Given the description of an element on the screen output the (x, y) to click on. 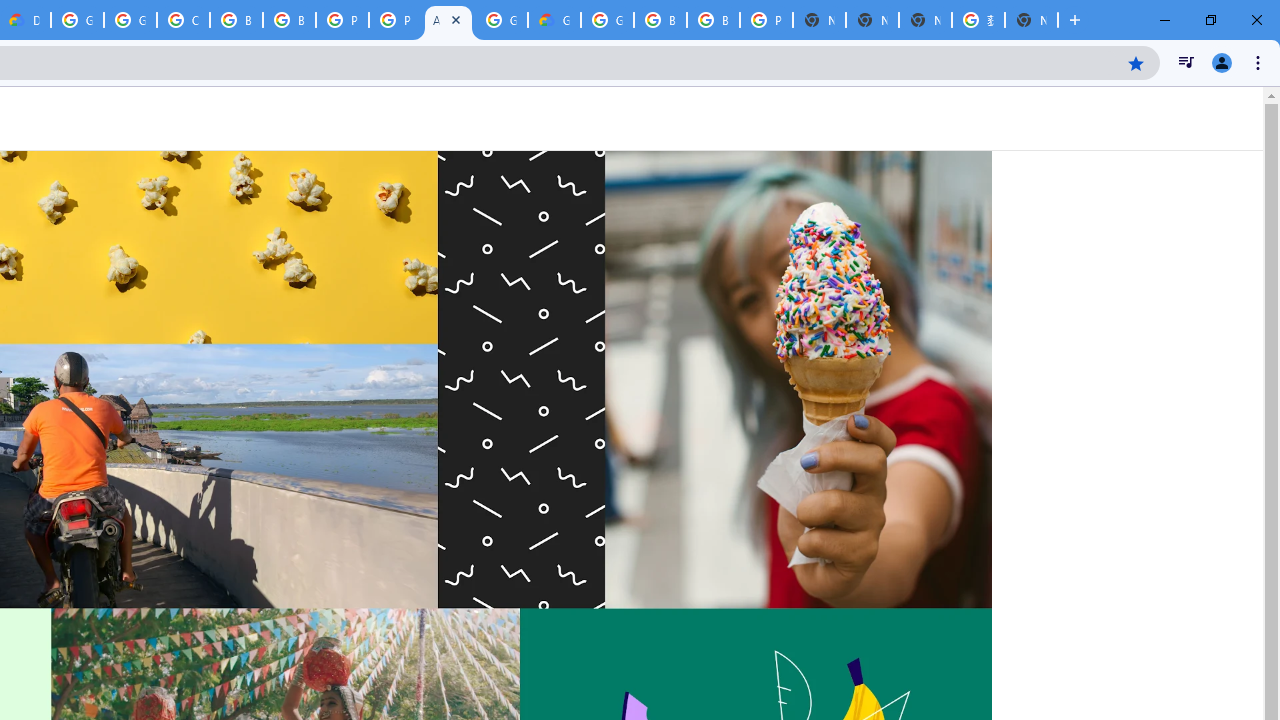
Google Cloud Platform (501, 20)
Browse Chrome as a guest - Computer - Google Chrome Help (660, 20)
New Tab (1031, 20)
About YouTube - YouTube (448, 20)
New Tab (819, 20)
Browse Chrome as a guest - Computer - Google Chrome Help (235, 20)
Google Cloud Estimate Summary (554, 20)
Google Cloud Platform (77, 20)
